Given the description of an element on the screen output the (x, y) to click on. 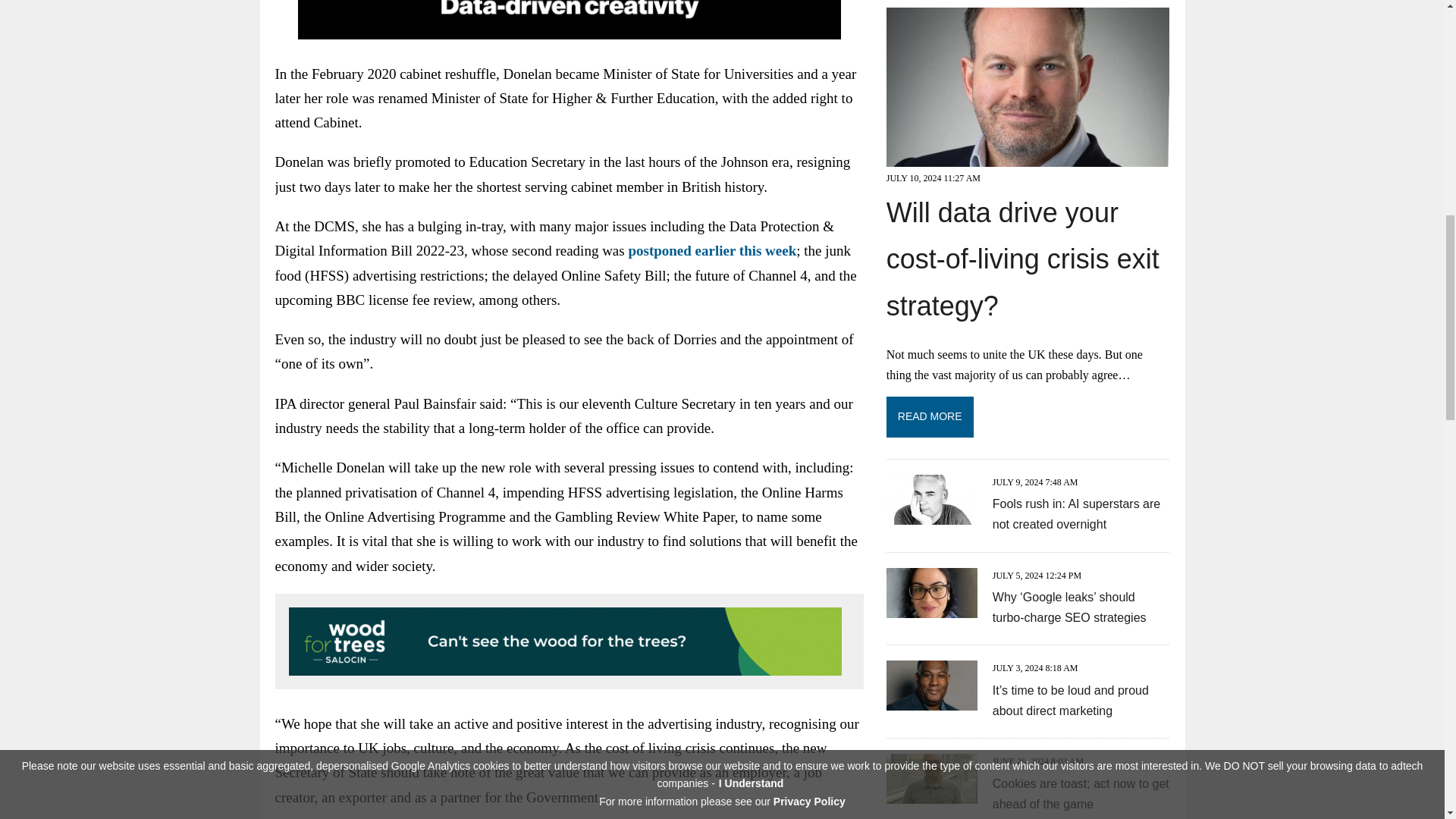
postponed earlier this week (711, 250)
